Given the description of an element on the screen output the (x, y) to click on. 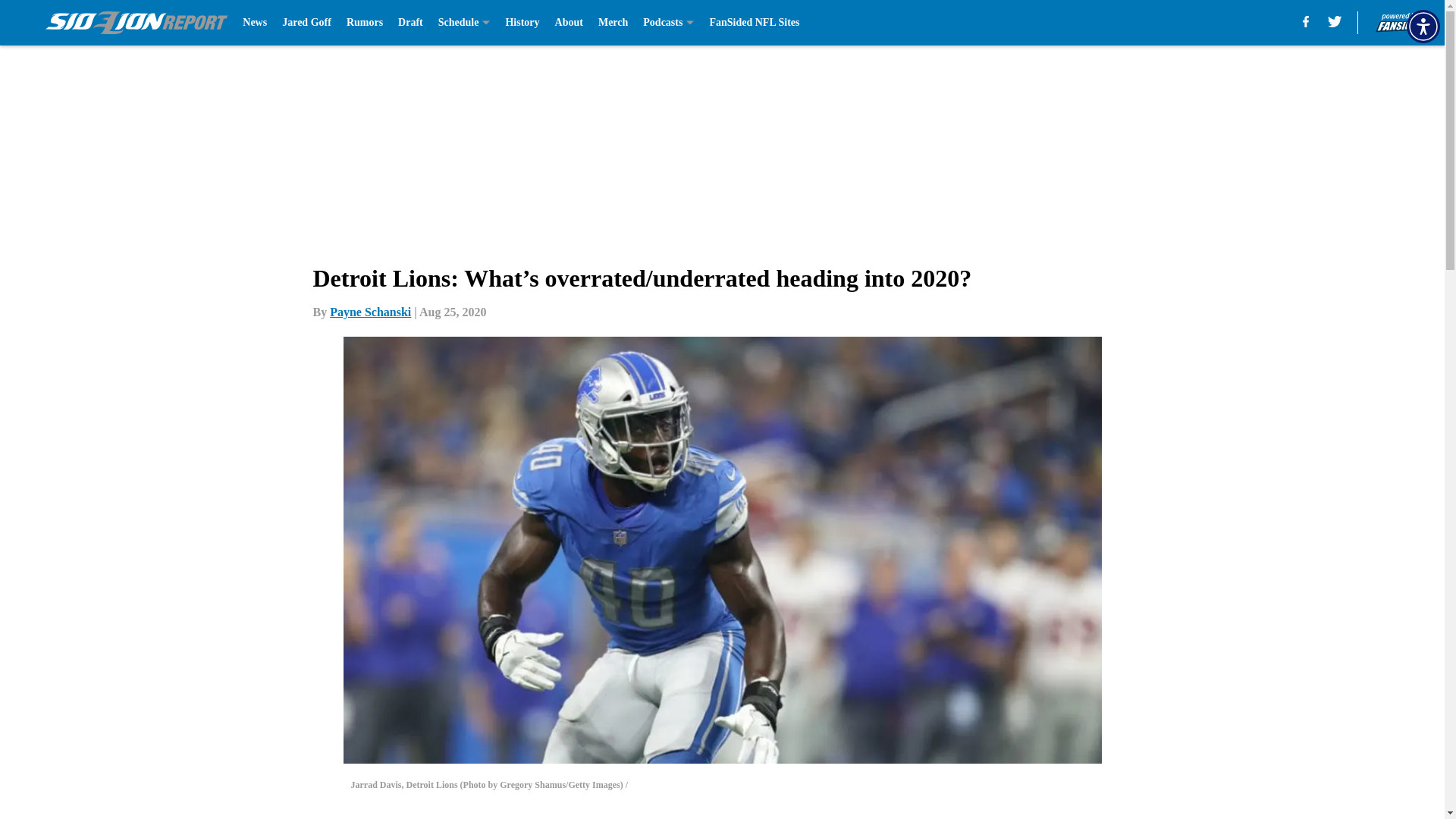
Jared Goff (306, 22)
Payne Schanski (370, 311)
Merch (612, 22)
About (568, 22)
History (521, 22)
FanSided NFL Sites (754, 22)
Rumors (364, 22)
News (254, 22)
Accessibility Menu (1422, 26)
Draft (410, 22)
